Given the description of an element on the screen output the (x, y) to click on. 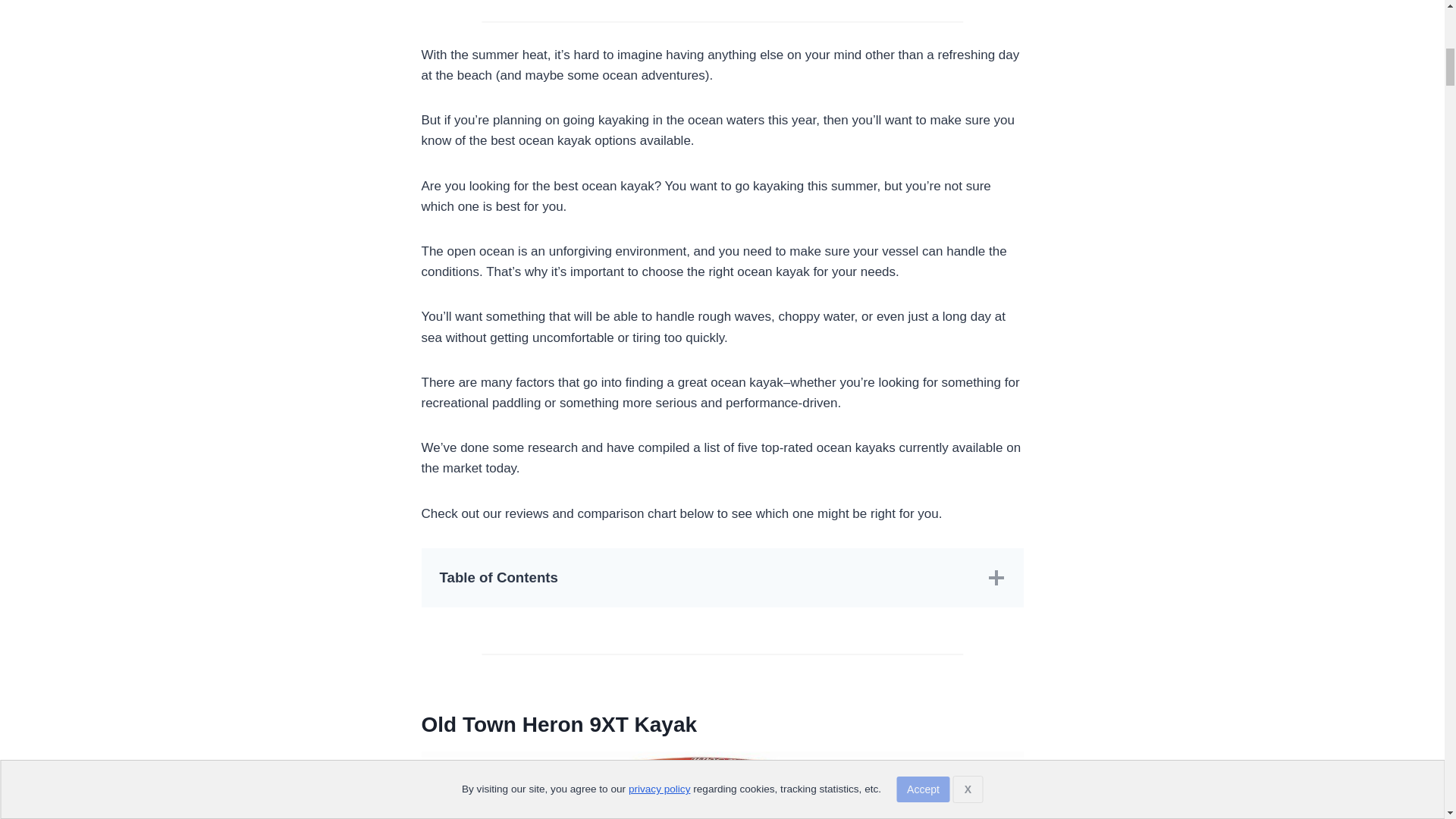
Old Town Heron 9XT Kayak (559, 724)
